Given the description of an element on the screen output the (x, y) to click on. 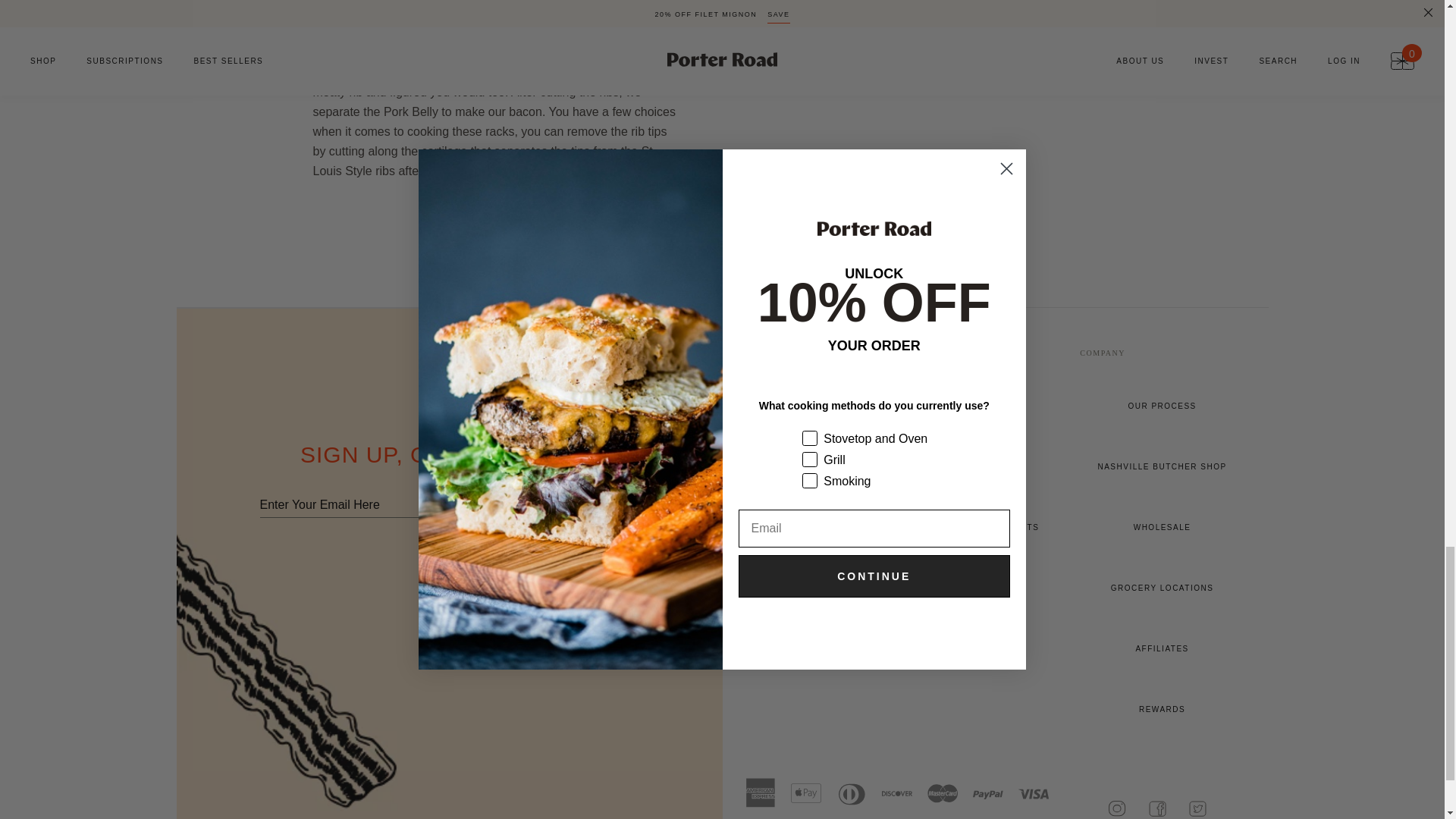
Apple Pay (805, 793)
American Express (759, 793)
PayPal (987, 793)
MasterCard (941, 793)
Diner's Club (850, 793)
Visa (1032, 793)
Discover (895, 793)
Submit (606, 506)
